Given the description of an element on the screen output the (x, y) to click on. 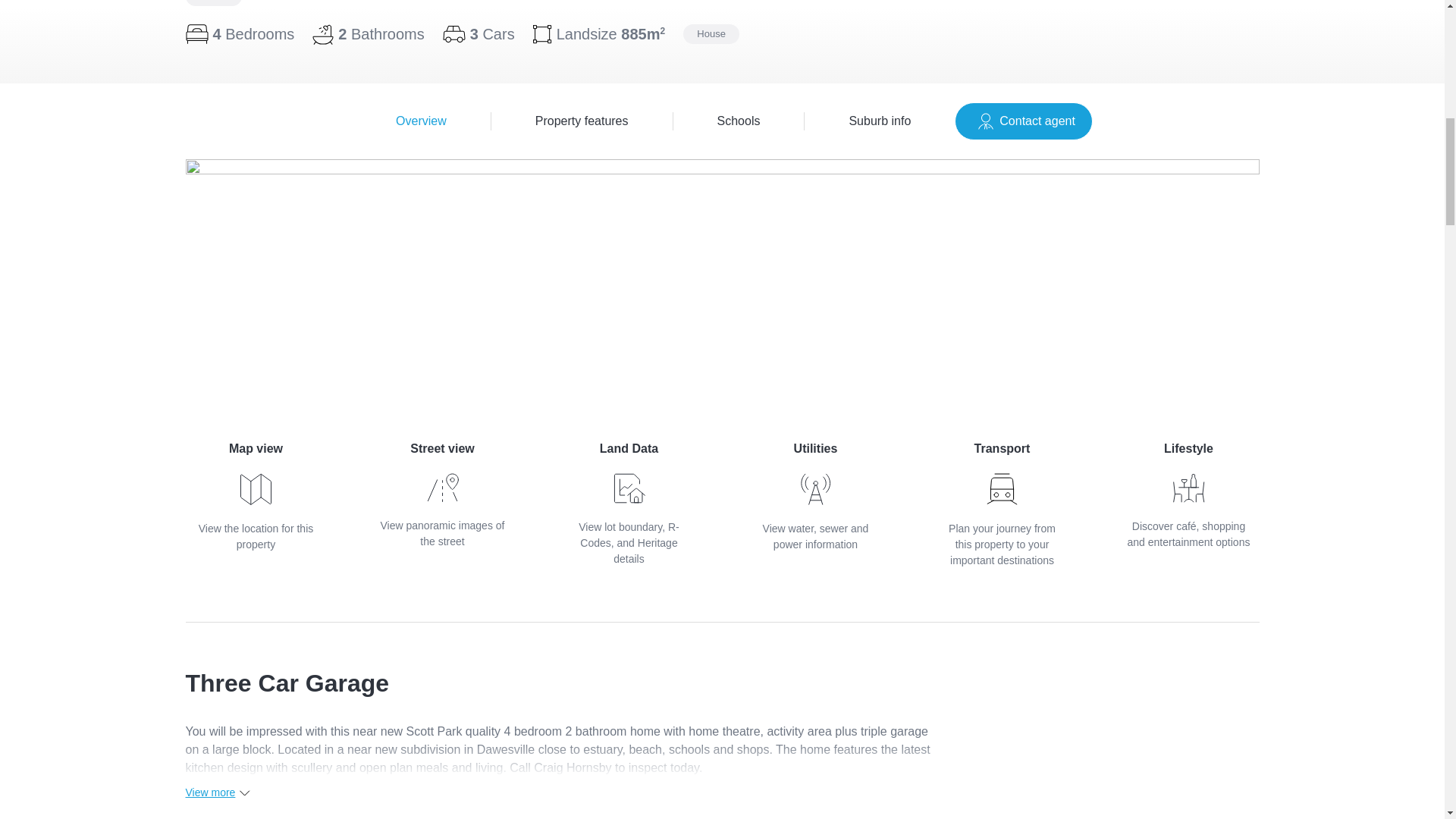
Property features (582, 121)
Suburb info (880, 121)
Schools (738, 121)
Contact agent (255, 496)
Overview (1024, 121)
